Given the description of an element on the screen output the (x, y) to click on. 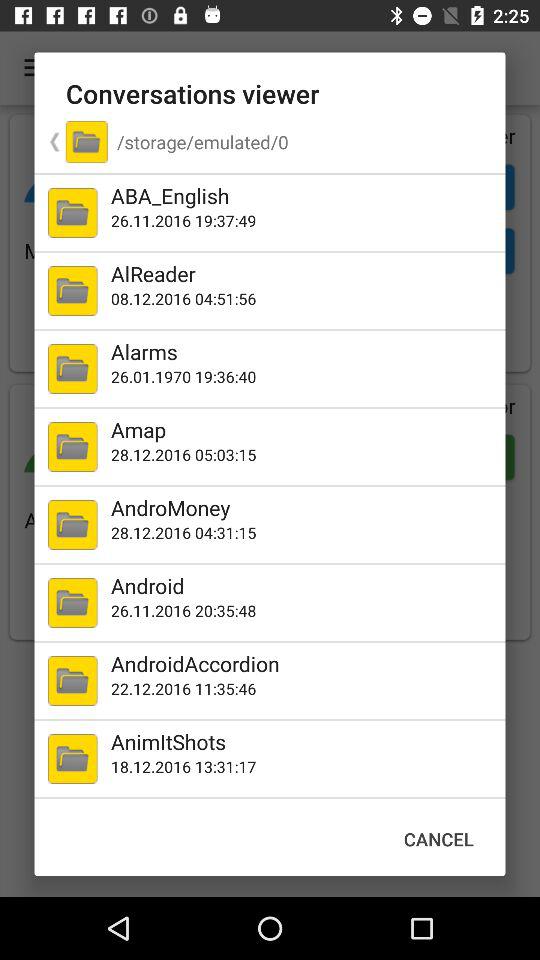
scroll until the android item (304, 585)
